Given the description of an element on the screen output the (x, y) to click on. 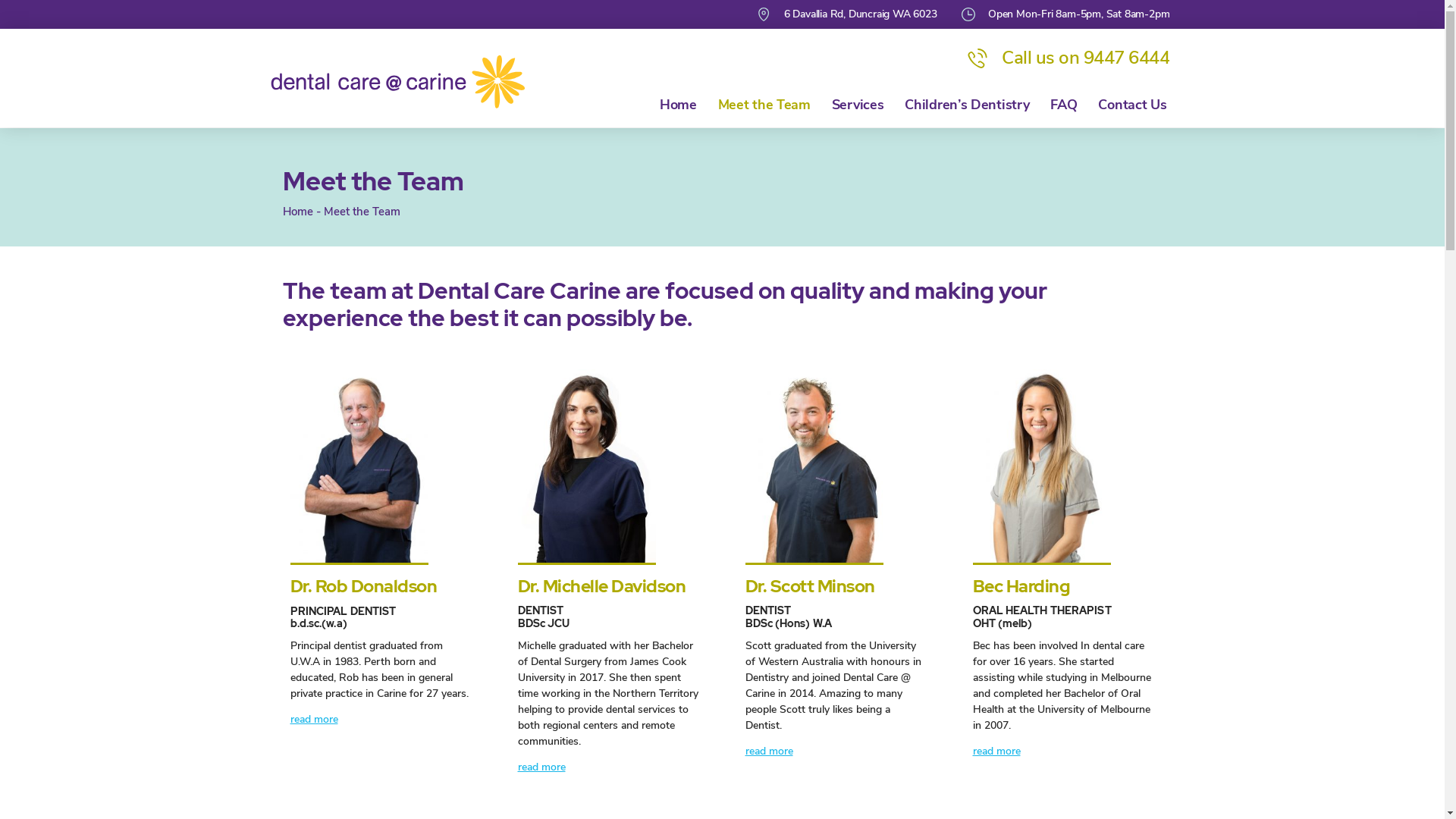
9447 6444 Element type: text (1126, 57)
Services Element type: text (857, 105)
Contact Us Element type: text (1131, 105)
Meet the Team Element type: text (764, 105)
FAQ Element type: text (1063, 105)
Home Element type: text (678, 105)
Home Element type: text (297, 211)
